Given the description of an element on the screen output the (x, y) to click on. 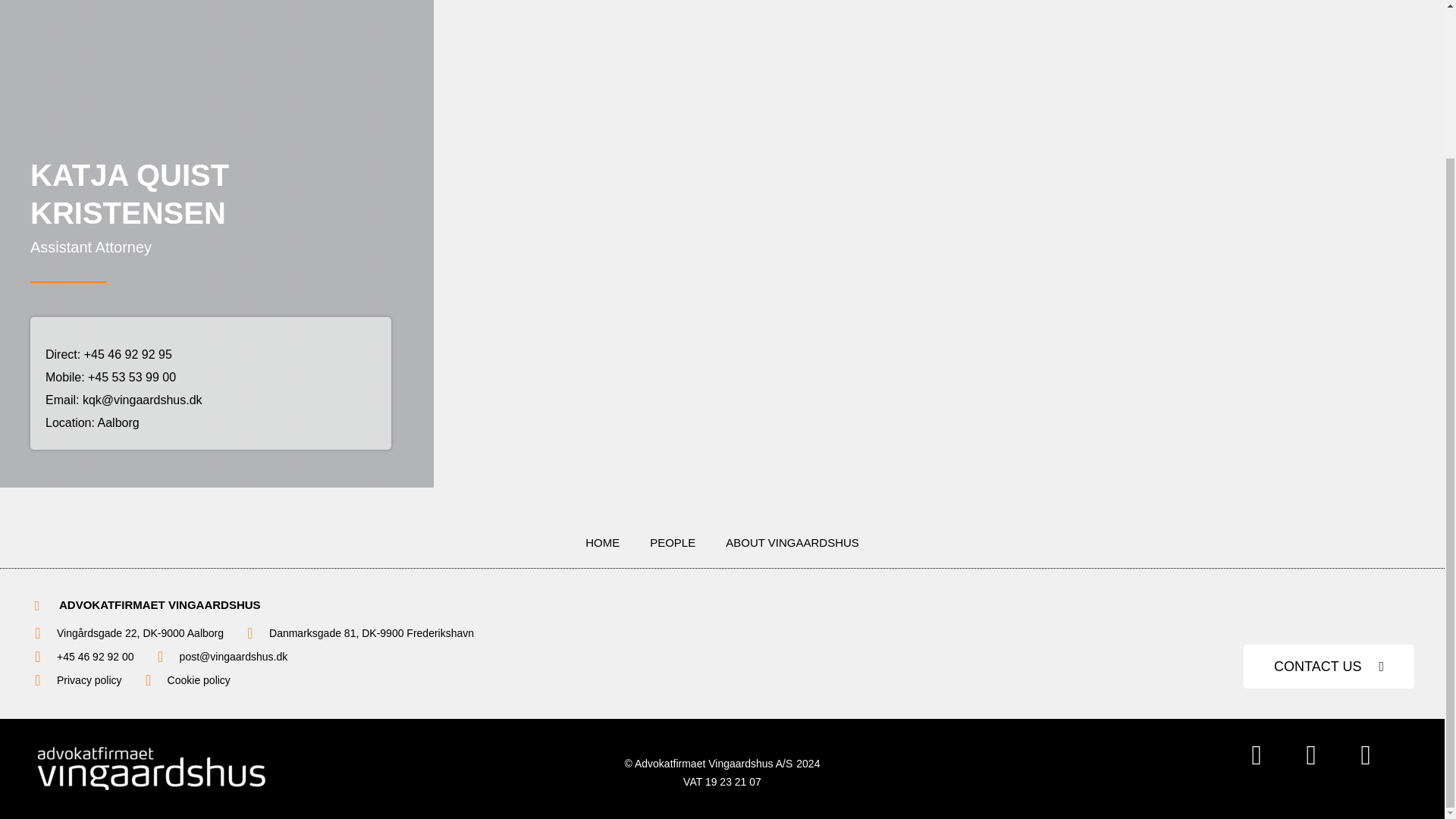
CONTACT US (1328, 666)
Cookie policy (198, 680)
PEOPLE (672, 542)
ABOUT VINGAARDSHUS (792, 542)
Privacy policy (89, 680)
HOME (602, 542)
